Given the description of an element on the screen output the (x, y) to click on. 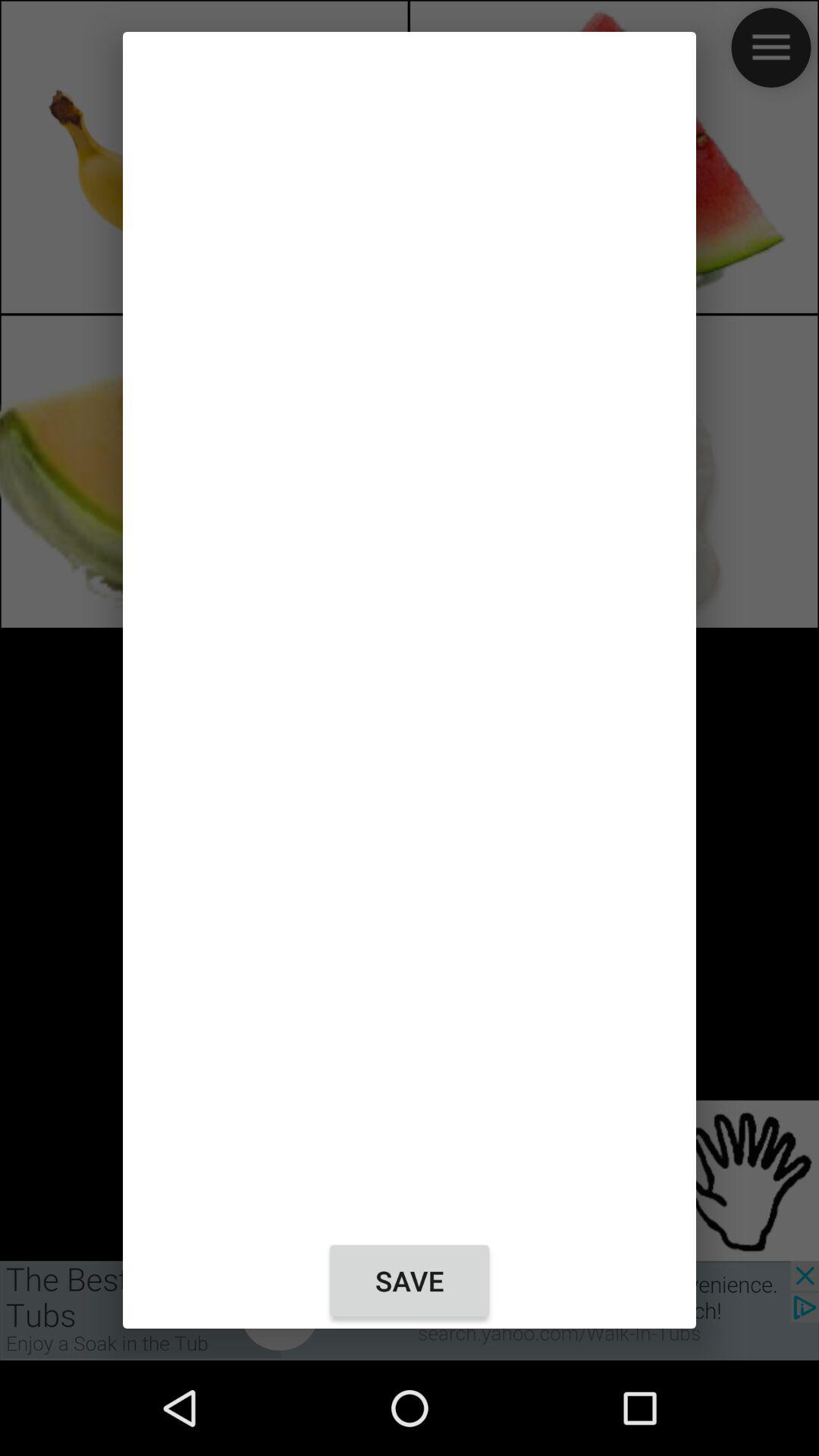
choose the save at the bottom (409, 1280)
